Given the description of an element on the screen output the (x, y) to click on. 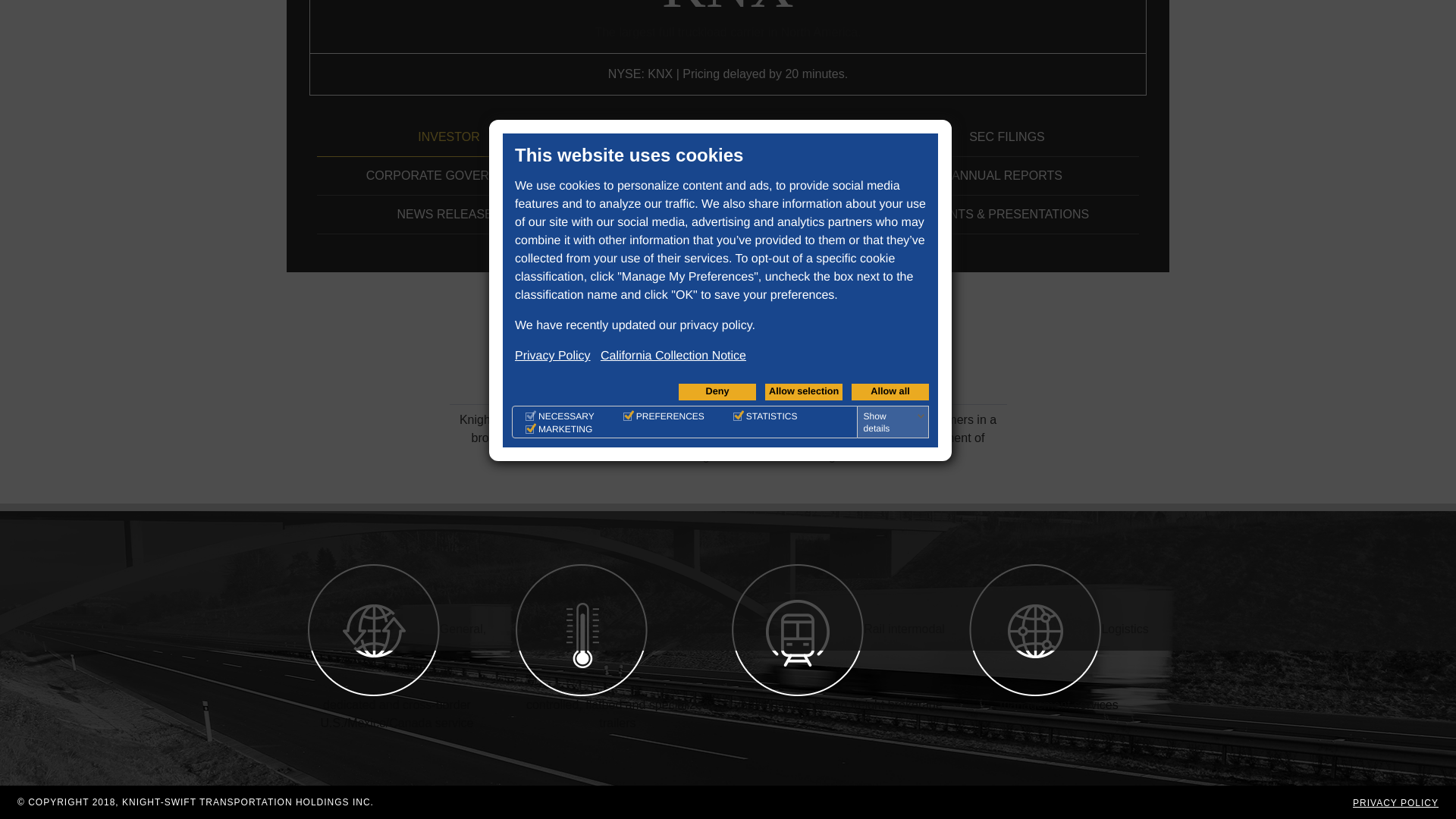
SEC FILINGS (1006, 137)
COMMUNICATION WITH DIRECTORS (727, 214)
FREQUENTLY ASKED QUESTIONS (727, 137)
INVESTOR INFORMATION (727, 176)
INVESTOR (448, 137)
CORPORATE GOVERNANCE (448, 176)
NEWS RELEASES (448, 214)
ANNUAL REPORTS (1006, 176)
